Given the description of an element on the screen output the (x, y) to click on. 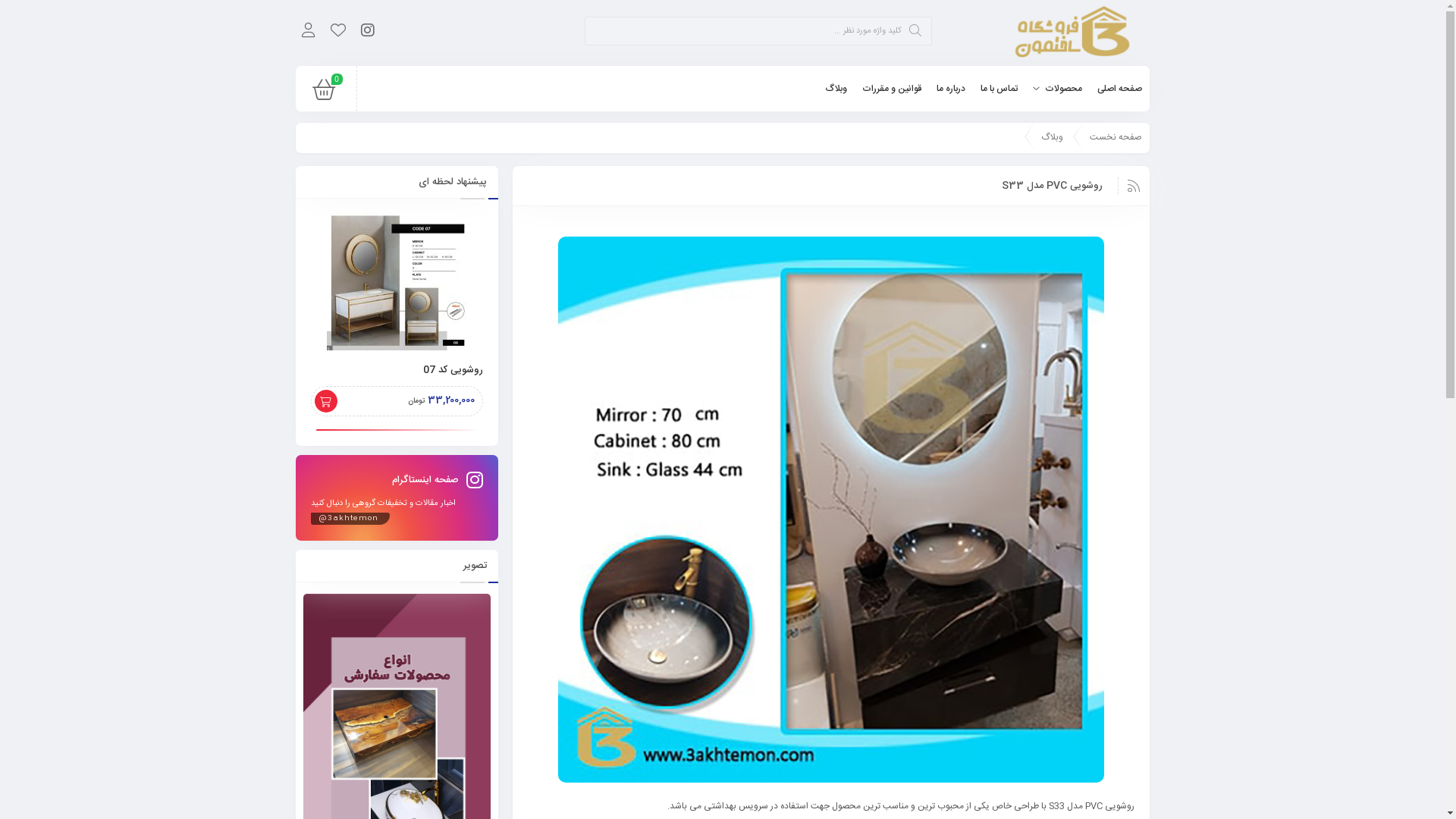
0 Element type: text (323, 93)
